Given the description of an element on the screen output the (x, y) to click on. 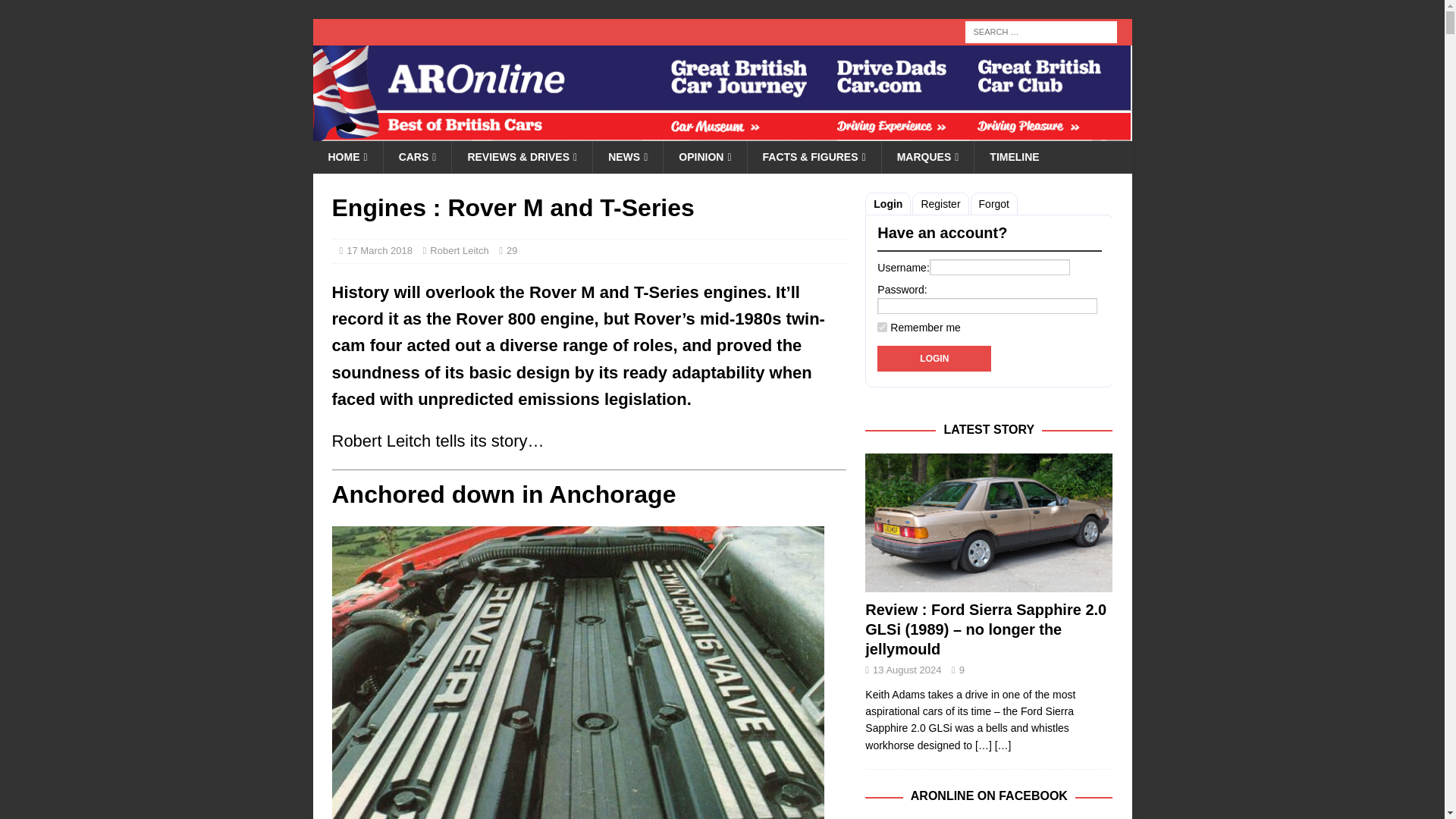
Search (56, 11)
AROnline model histories (416, 156)
Login (934, 358)
forever (881, 327)
Engines : Rover M and T-Series (983, 745)
AROnline (722, 132)
